Given the description of an element on the screen output the (x, y) to click on. 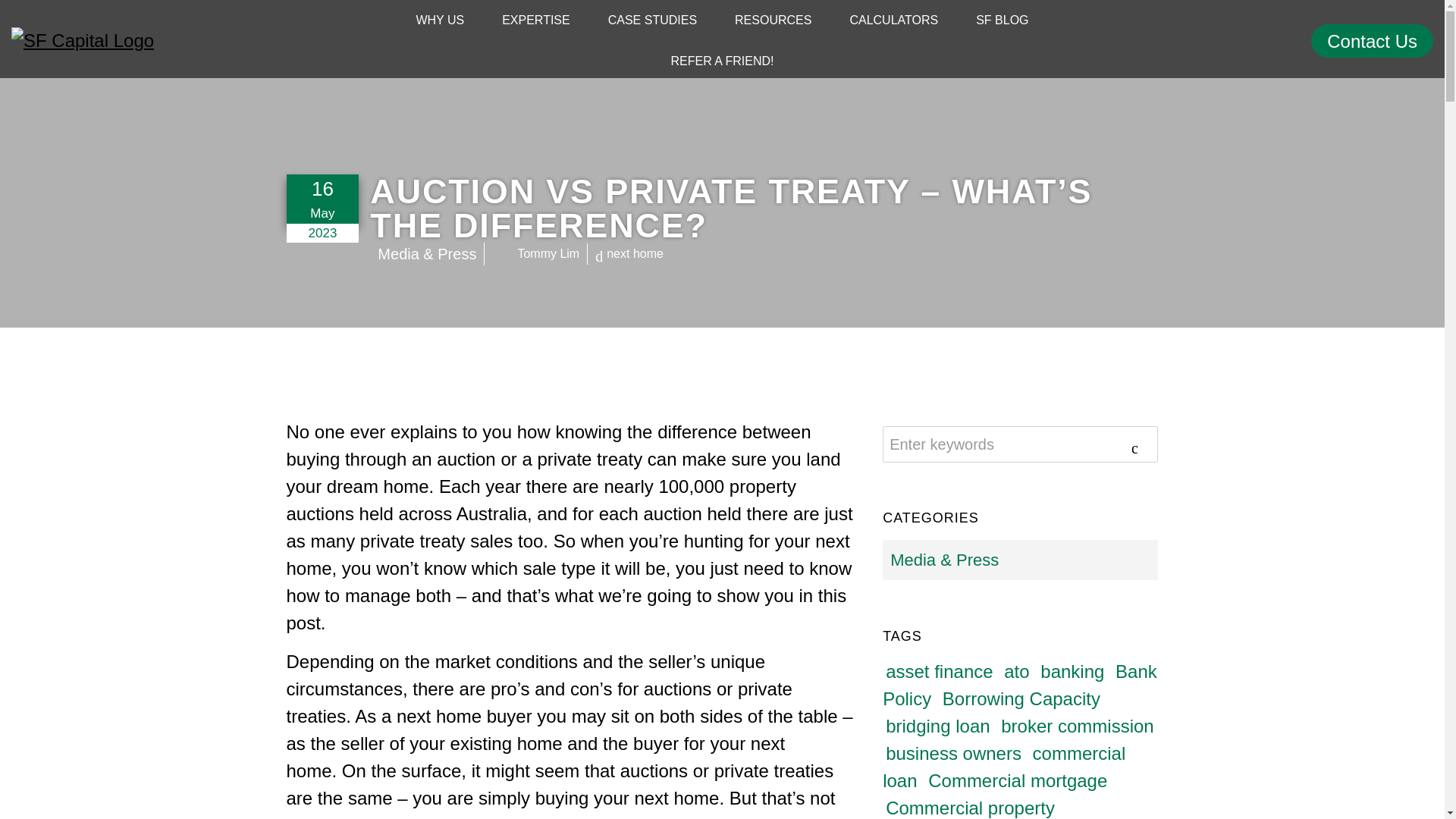
CASE STUDIES (651, 20)
Contact Us (1371, 40)
WHY US (439, 20)
RESOURCES (772, 20)
EXPERTISE (536, 20)
SF Capital (180, 40)
